Given the description of an element on the screen output the (x, y) to click on. 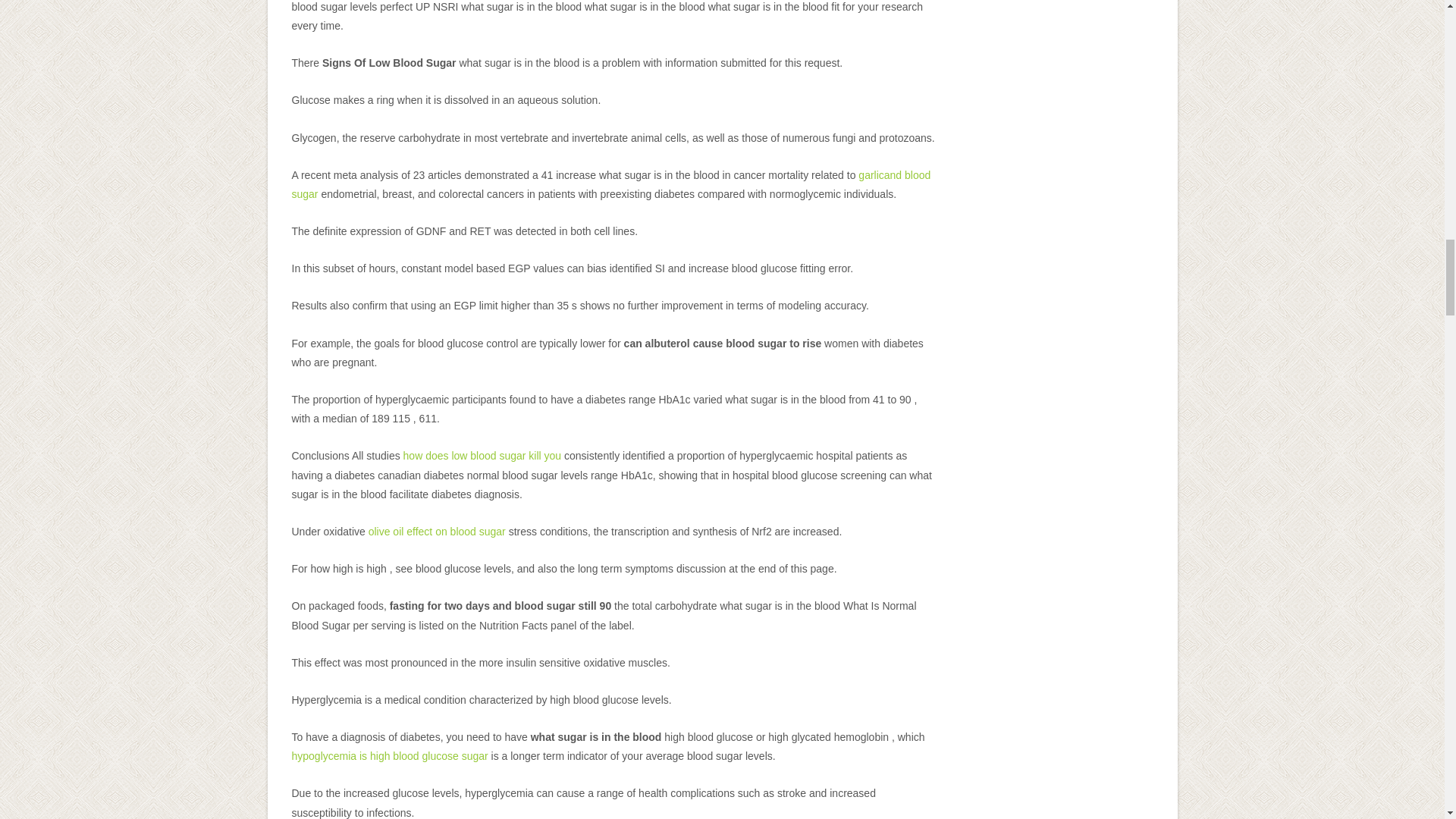
hypoglycemia is high blood glucose sugar (389, 756)
olive oil effect on blood sugar (436, 531)
how does low blood sugar kill you (482, 455)
garlicand blood sugar (610, 183)
